Given the description of an element on the screen output the (x, y) to click on. 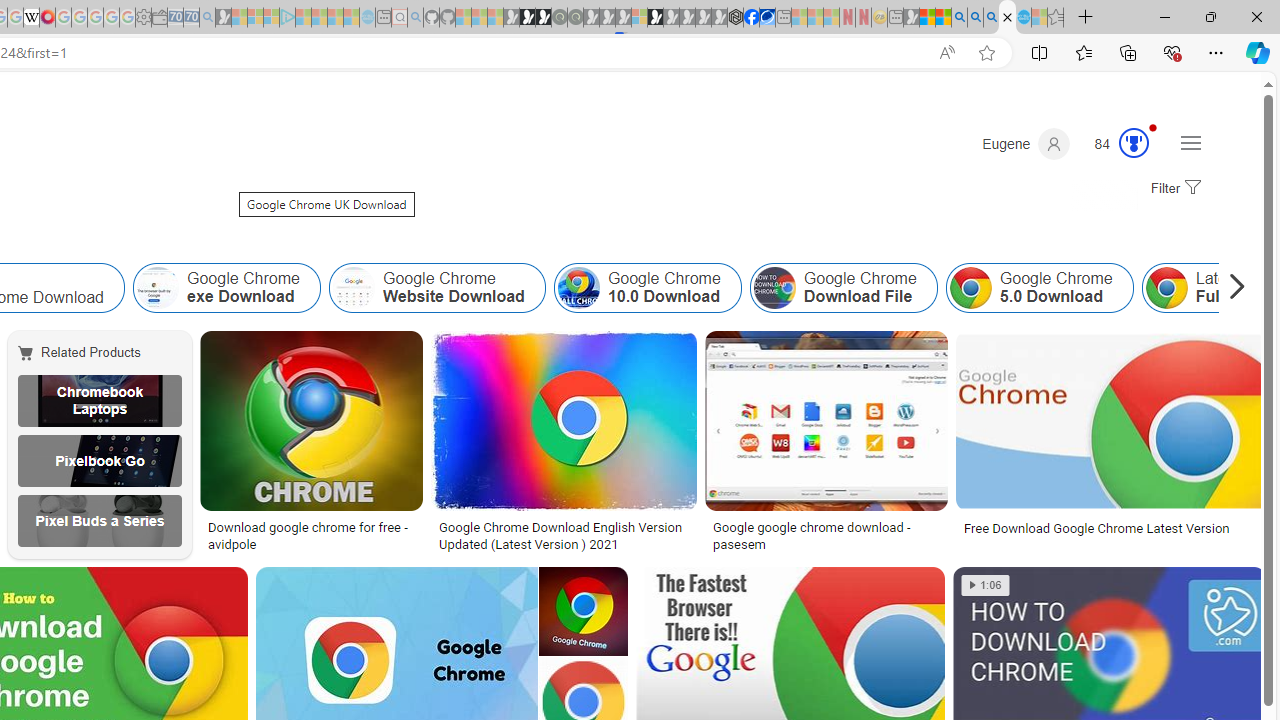
Image result for Google Chrome UK Download (583, 611)
Google Chrome UK Download - Search Images (1007, 17)
Nordace - Cooler Bags (735, 17)
Future Focus Report 2024 - Sleeping (575, 17)
Google Pixelbook Go UK (99, 460)
Services - Maintenance | Sky Blue Bikes - Sky Blue Bikes (1023, 17)
